Given the description of an element on the screen output the (x, y) to click on. 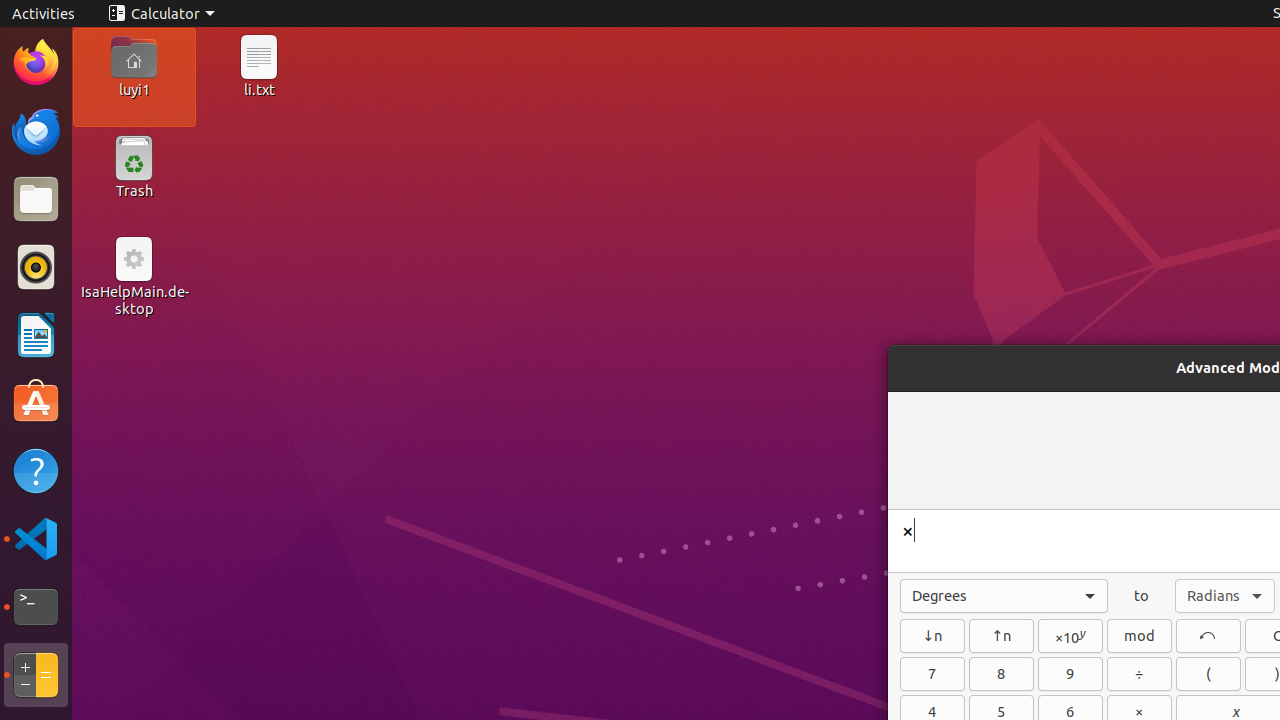
Scientific Exponent Element type: push-button (1070, 636)
Superscript Element type: toggle-button (1001, 636)
li.txt Element type: label (259, 89)
Degrees Element type: combo-box (1004, 596)
